Given the description of an element on the screen output the (x, y) to click on. 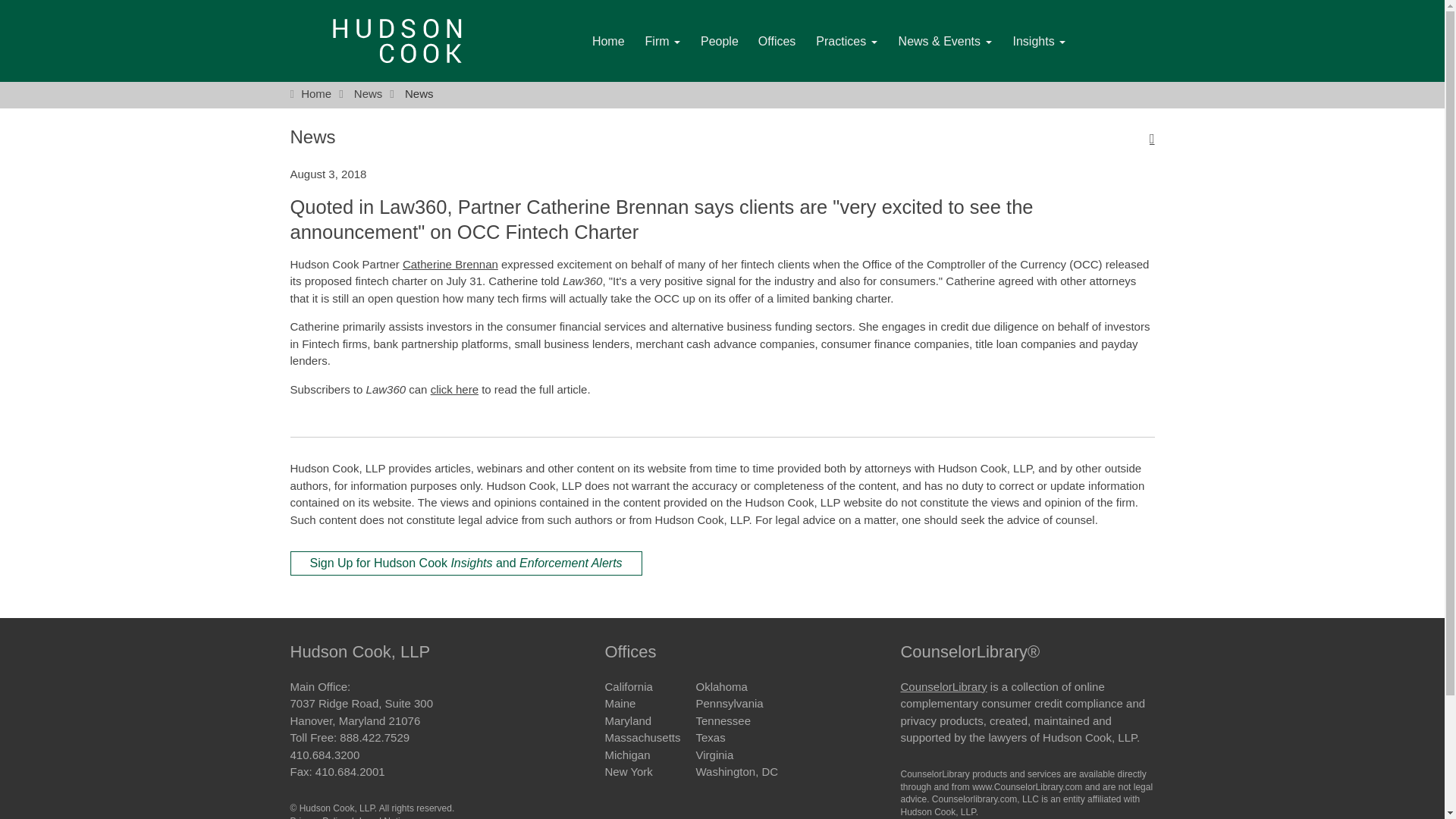
Insights (1040, 41)
Firm (662, 41)
Practices (845, 41)
Offices (777, 41)
Hudson Cook Home Page (396, 40)
People (719, 41)
Home (608, 41)
